Given the description of an element on the screen output the (x, y) to click on. 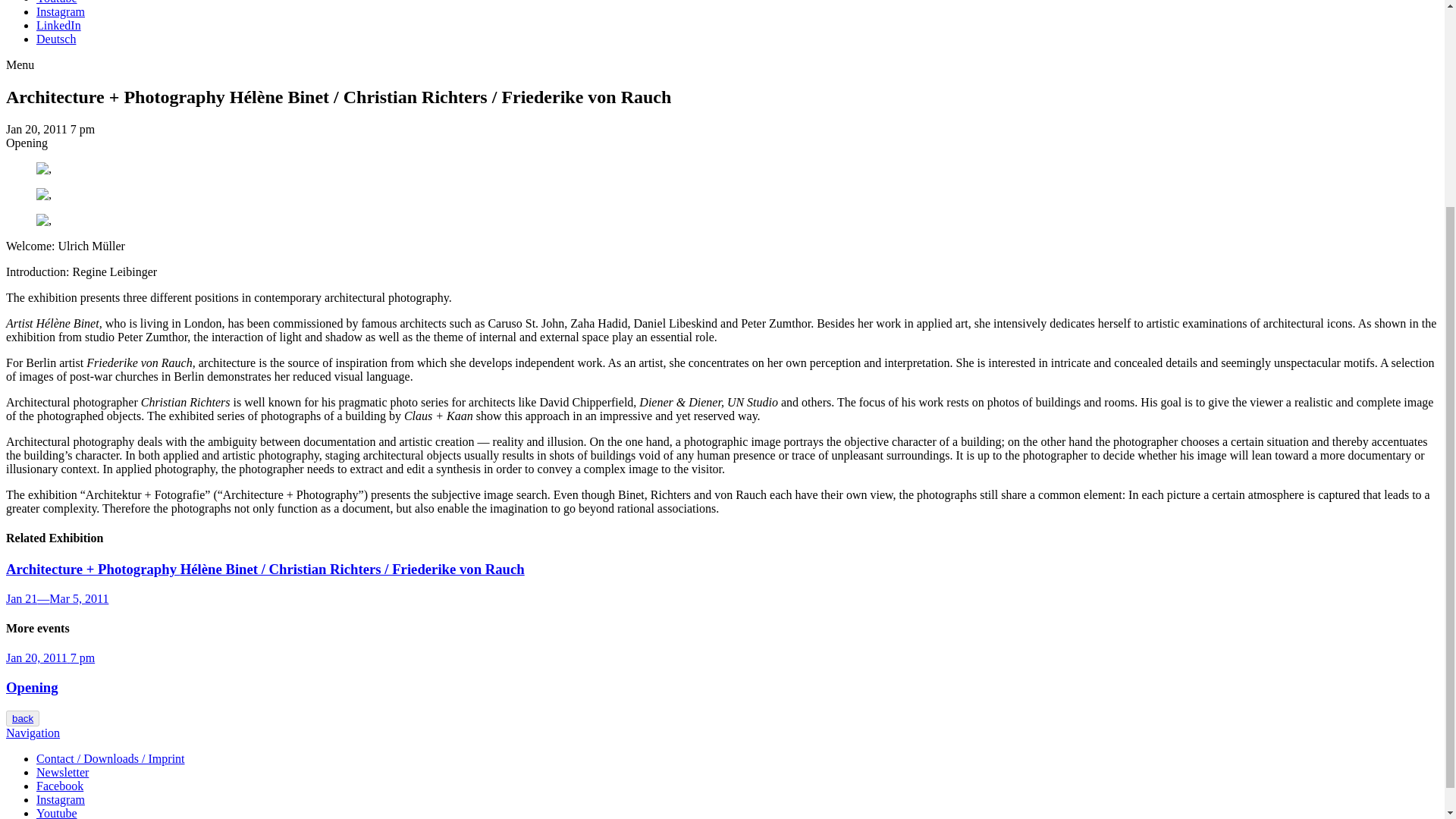
Instagram (60, 799)
Menu (19, 64)
Youtube (56, 2)
back (22, 718)
Newsletter (62, 771)
Toggle Navigation (19, 64)
back (22, 717)
Deutsch (55, 38)
Instagram (60, 11)
Toggle Navigation (32, 732)
LinkedIn (58, 24)
Navigation (32, 732)
Facebook (59, 785)
